Given the description of an element on the screen output the (x, y) to click on. 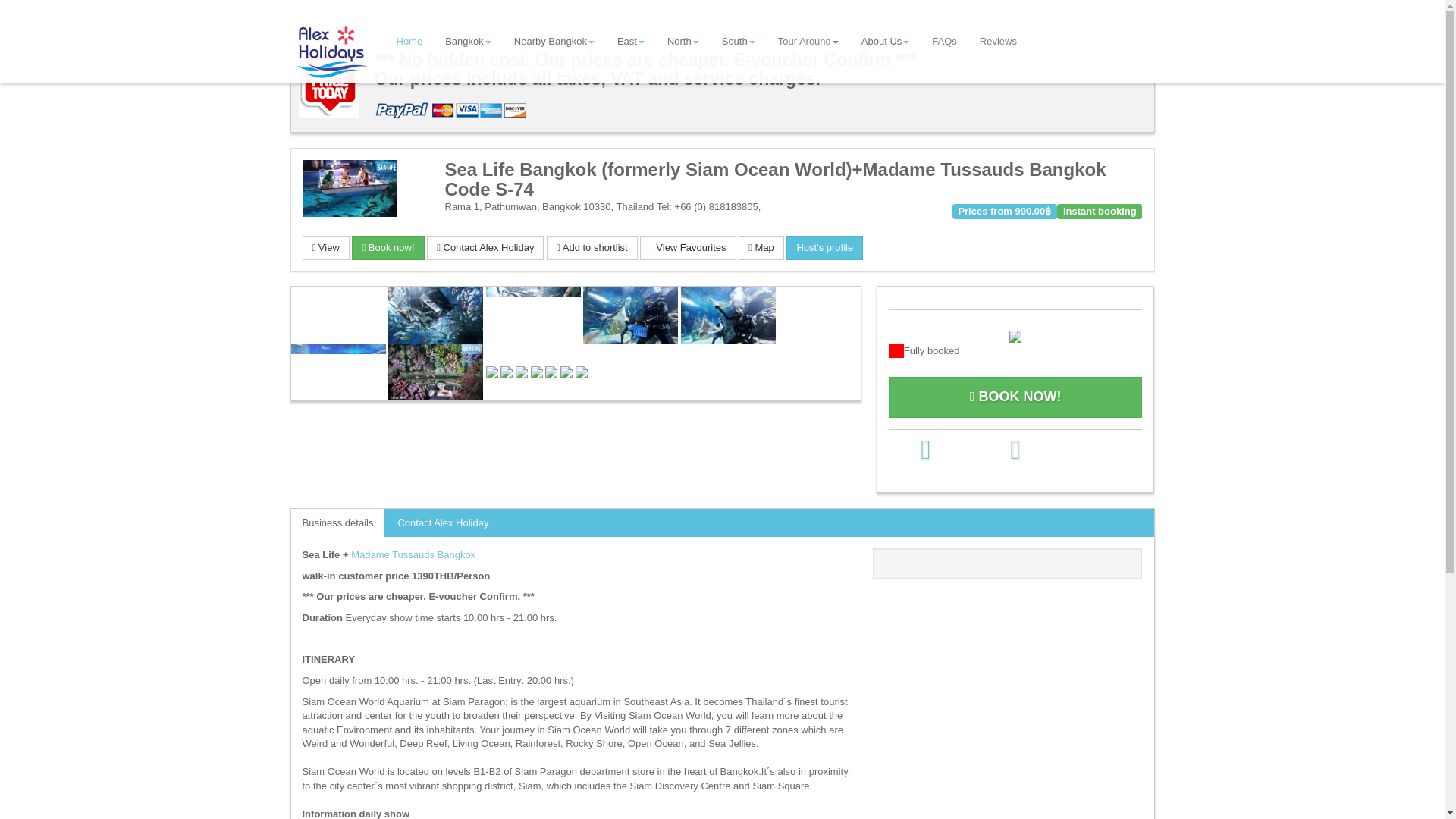
Legend (1015, 350)
Legend (1015, 335)
Home (409, 41)
Alexholidays (333, 51)
